Given the description of an element on the screen output the (x, y) to click on. 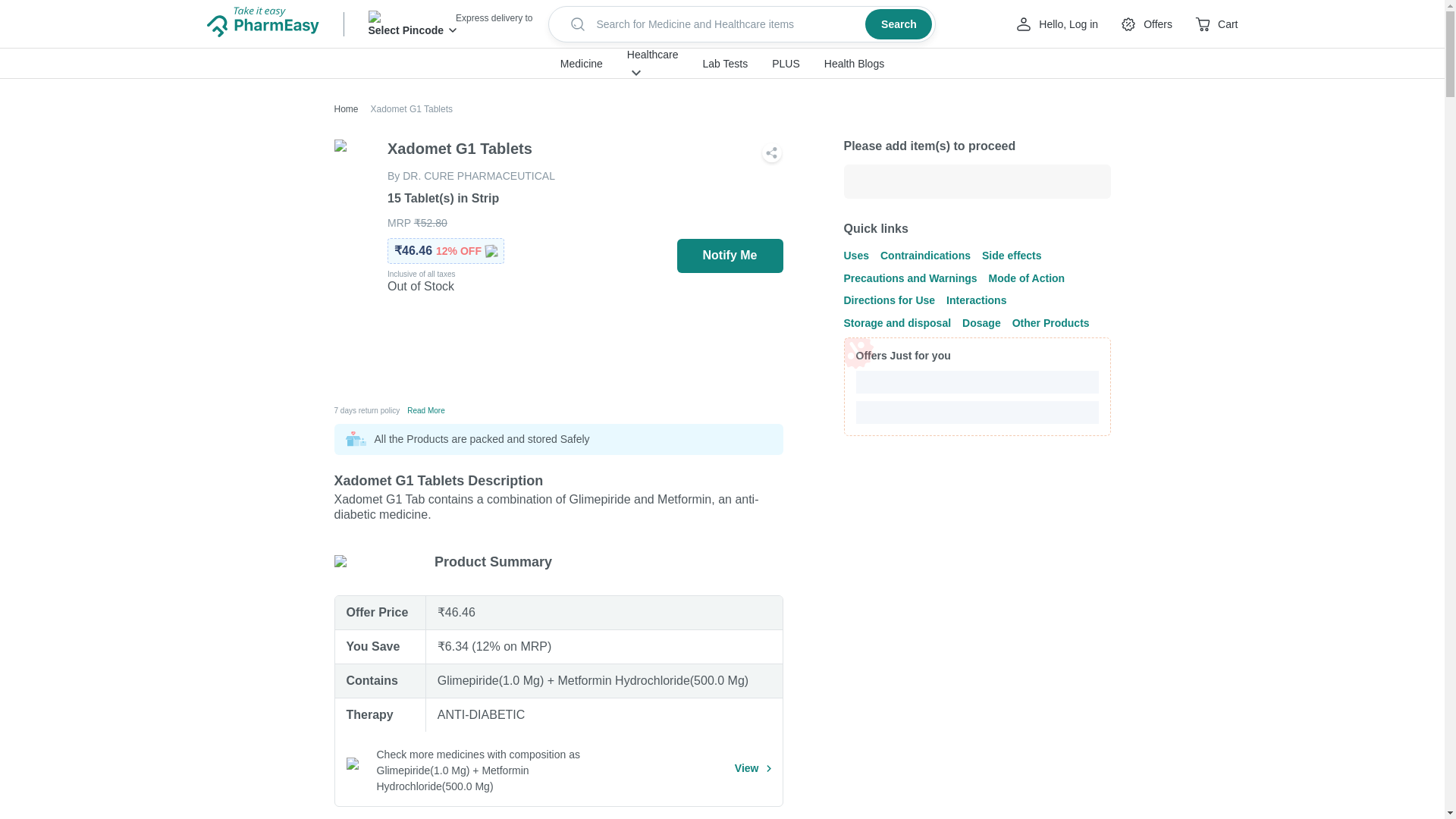
Medicine (581, 63)
Healthcare (652, 54)
Lab Tests (725, 63)
Home (345, 109)
PLUS (785, 63)
Health Blogs (853, 63)
View (753, 768)
Xadomet G1 Tablets (405, 109)
Notify Me (730, 255)
Offers (1145, 24)
Read More (425, 410)
Cart (1215, 24)
